Given the description of an element on the screen output the (x, y) to click on. 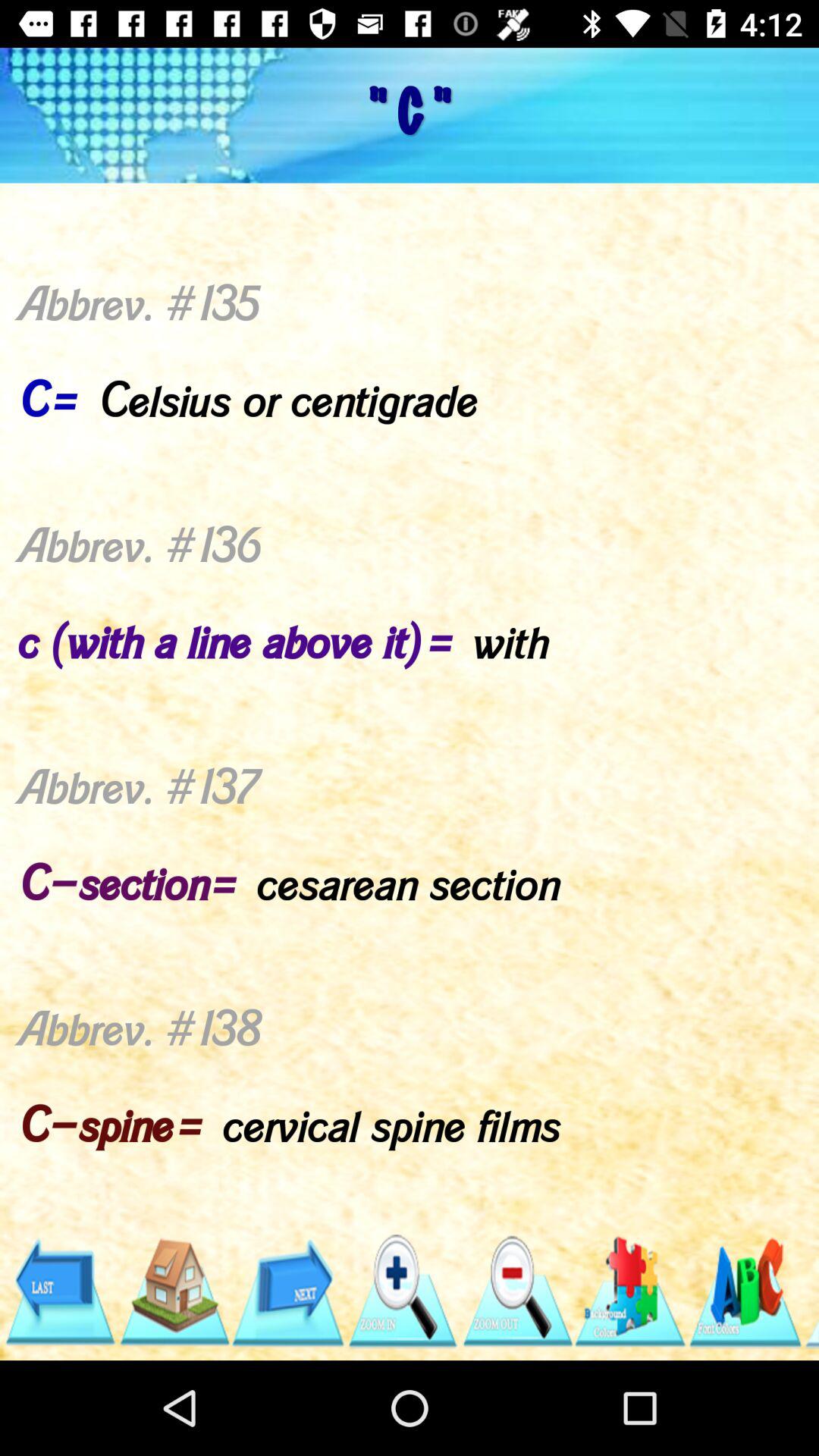
launch the app below abbrev 	135	 	c (516, 1291)
